Given the description of an element on the screen output the (x, y) to click on. 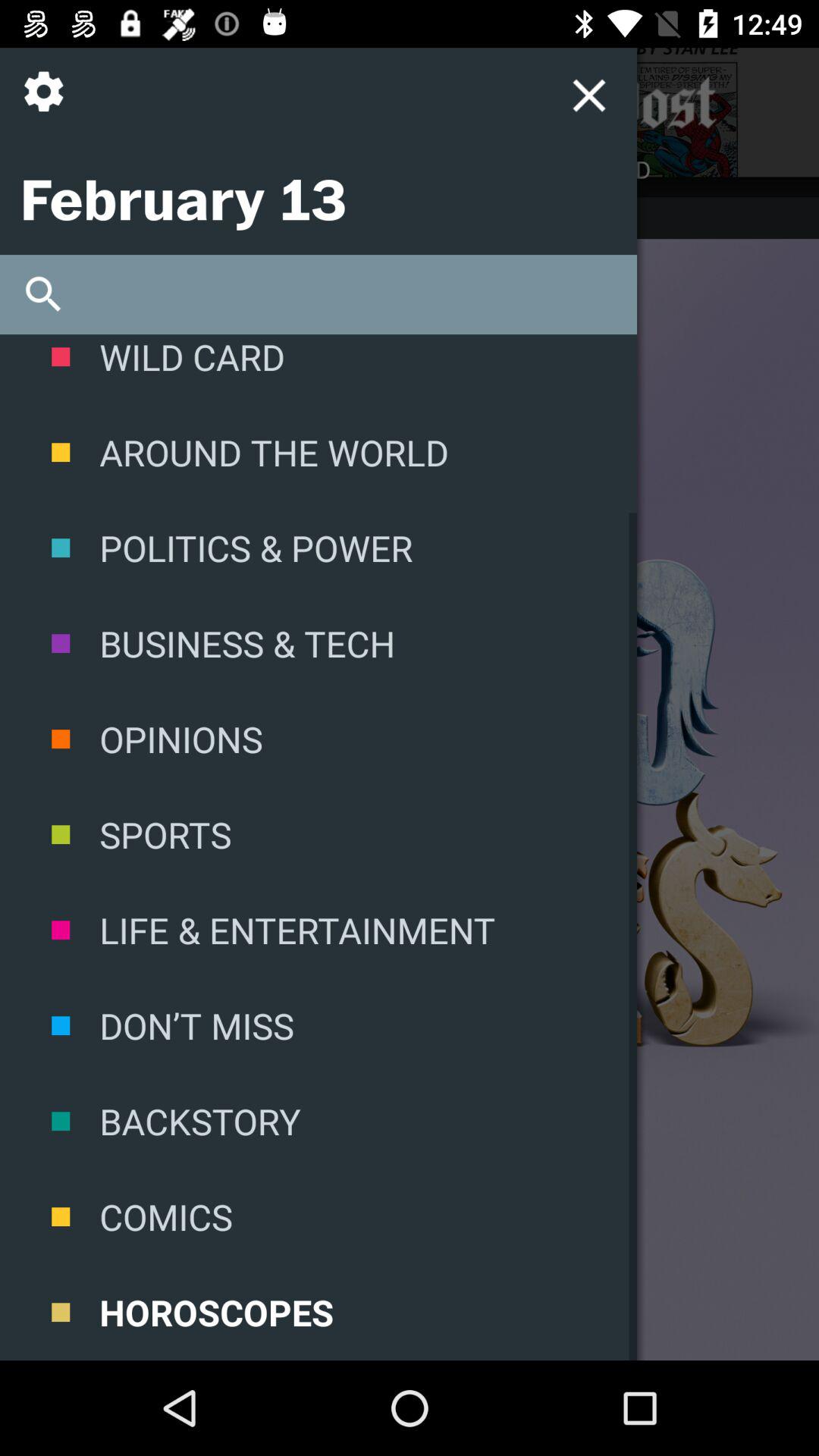
close app (442, 103)
